Given the description of an element on the screen output the (x, y) to click on. 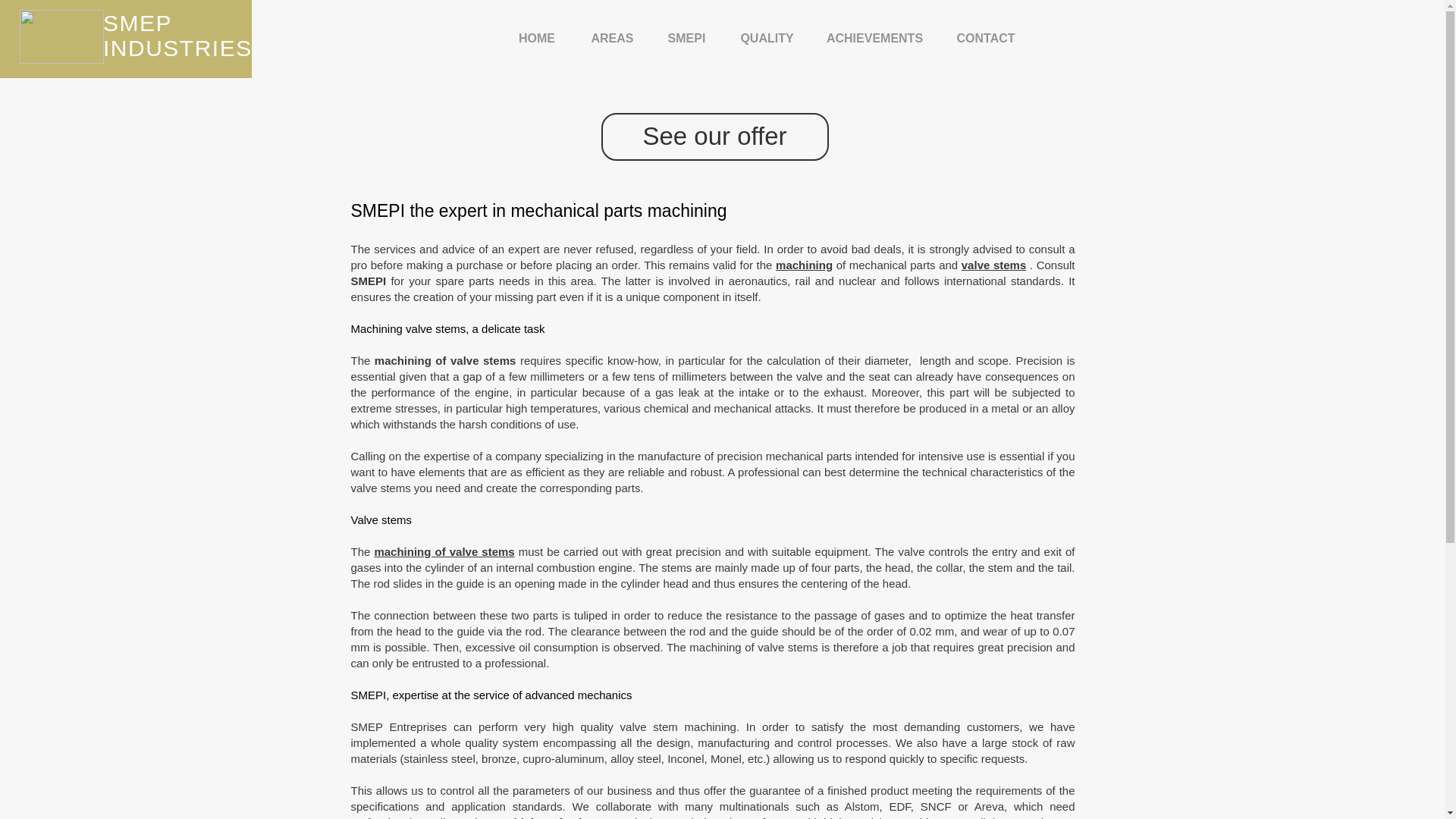
valve stems (993, 264)
CONTACT (986, 38)
machining of valve stems (443, 551)
HOME (536, 38)
SMEPI (686, 38)
ACHIEVEMENTS (874, 38)
machining (804, 264)
SMEP (137, 23)
AREAS (612, 38)
See our offer (713, 136)
